Given the description of an element on the screen output the (x, y) to click on. 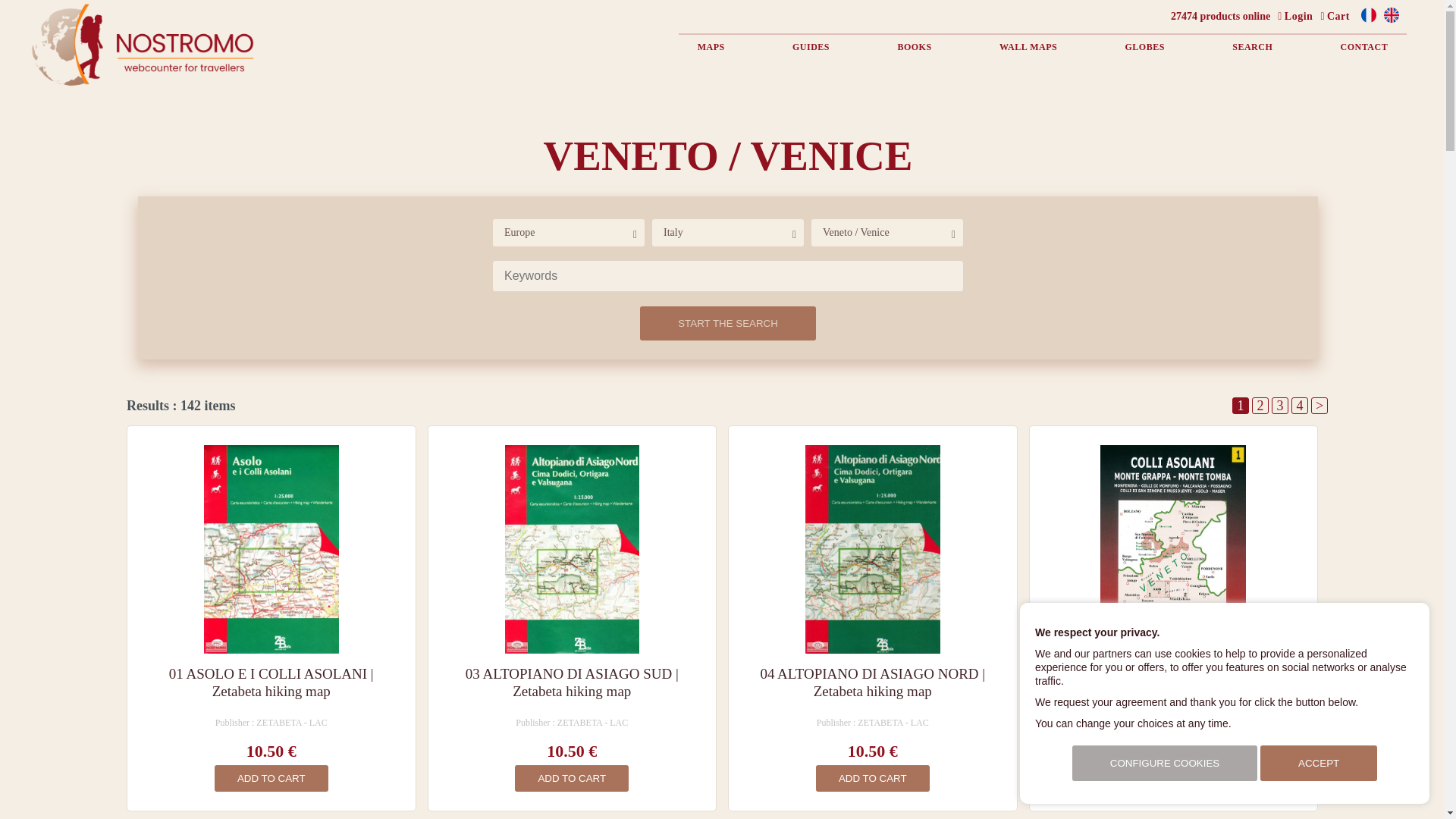
English (1391, 19)
BOOKS (913, 46)
GUIDES (810, 46)
WALL MAPS (1027, 46)
MAPS (711, 46)
